Given the description of an element on the screen output the (x, y) to click on. 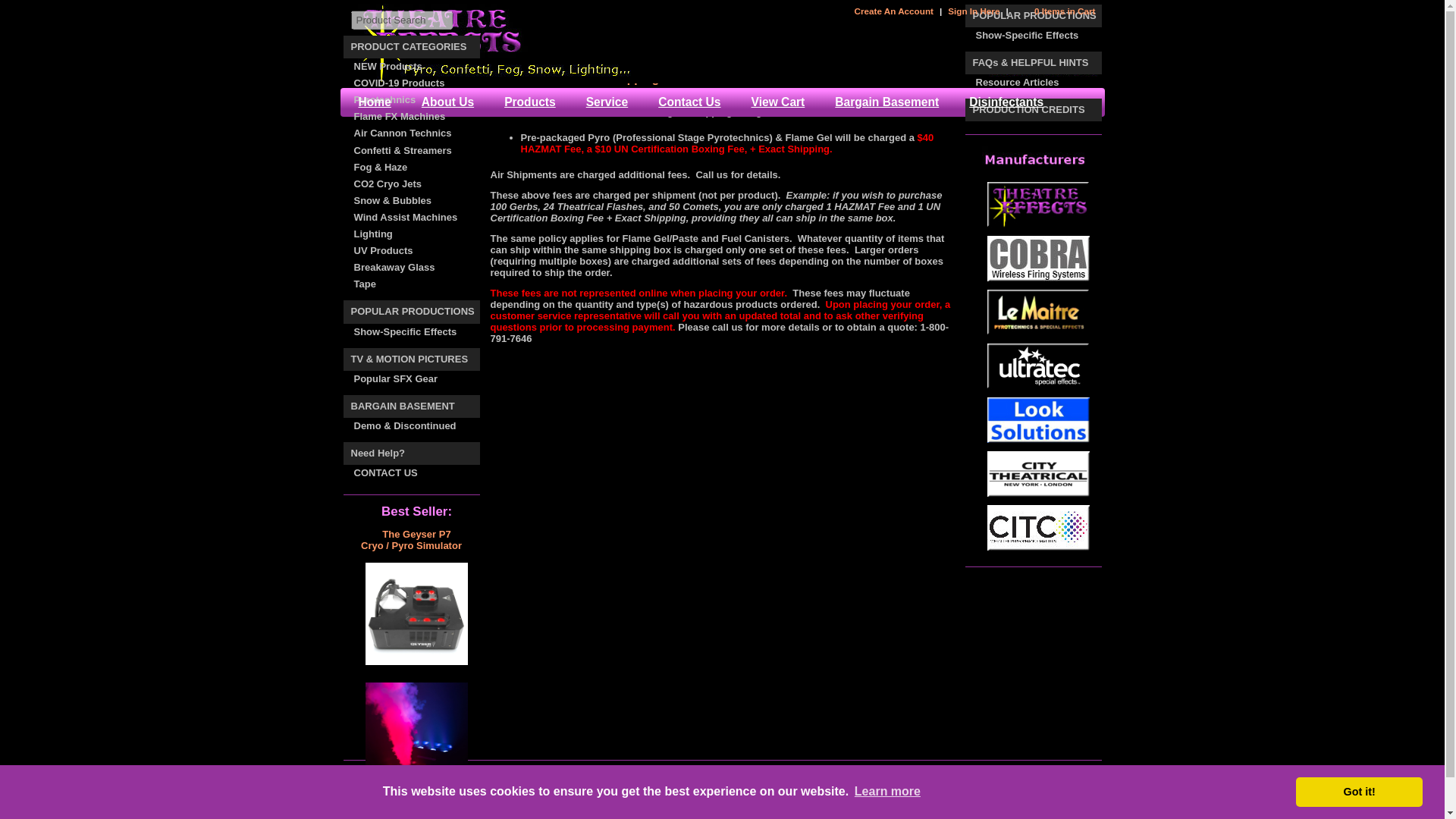
Product Search (400, 19)
Bargain Basement (886, 102)
cart 0 Items in Cart (1055, 10)
PRODUCT CATEGORIES (410, 47)
Go (463, 19)
Home (374, 102)
Product Search (400, 19)
Learn more (887, 791)
Sign In Here - Home (974, 10)
Home (504, 26)
